Given the description of an element on the screen output the (x, y) to click on. 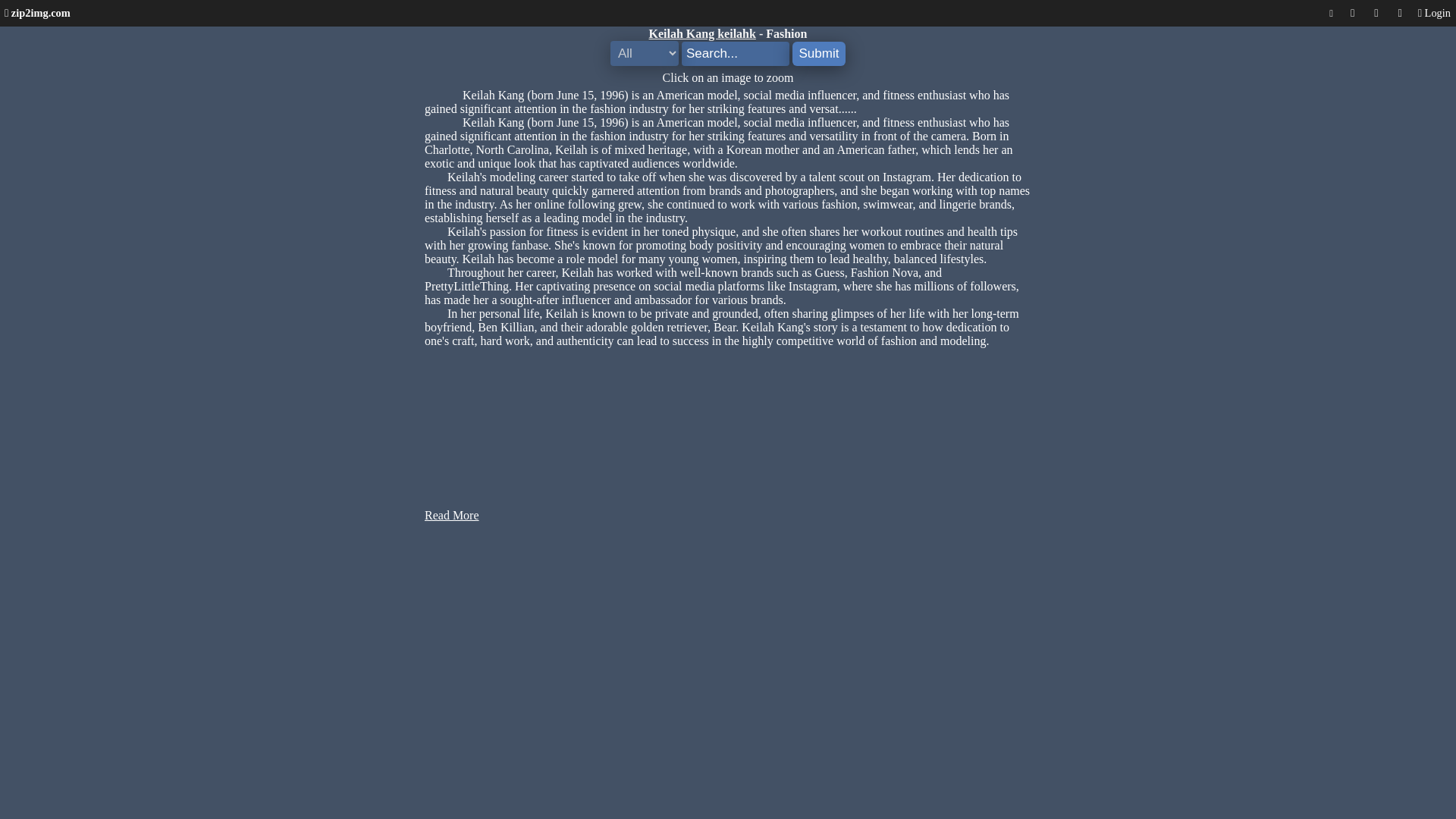
Submit (818, 53)
Read More (452, 514)
Keilah Kang keilahk (702, 33)
Submit (818, 53)
zip2img.com (36, 12)
Email Us (1399, 12)
Upload (1376, 12)
New Image (1351, 12)
Home (36, 12)
